Given the description of an element on the screen output the (x, y) to click on. 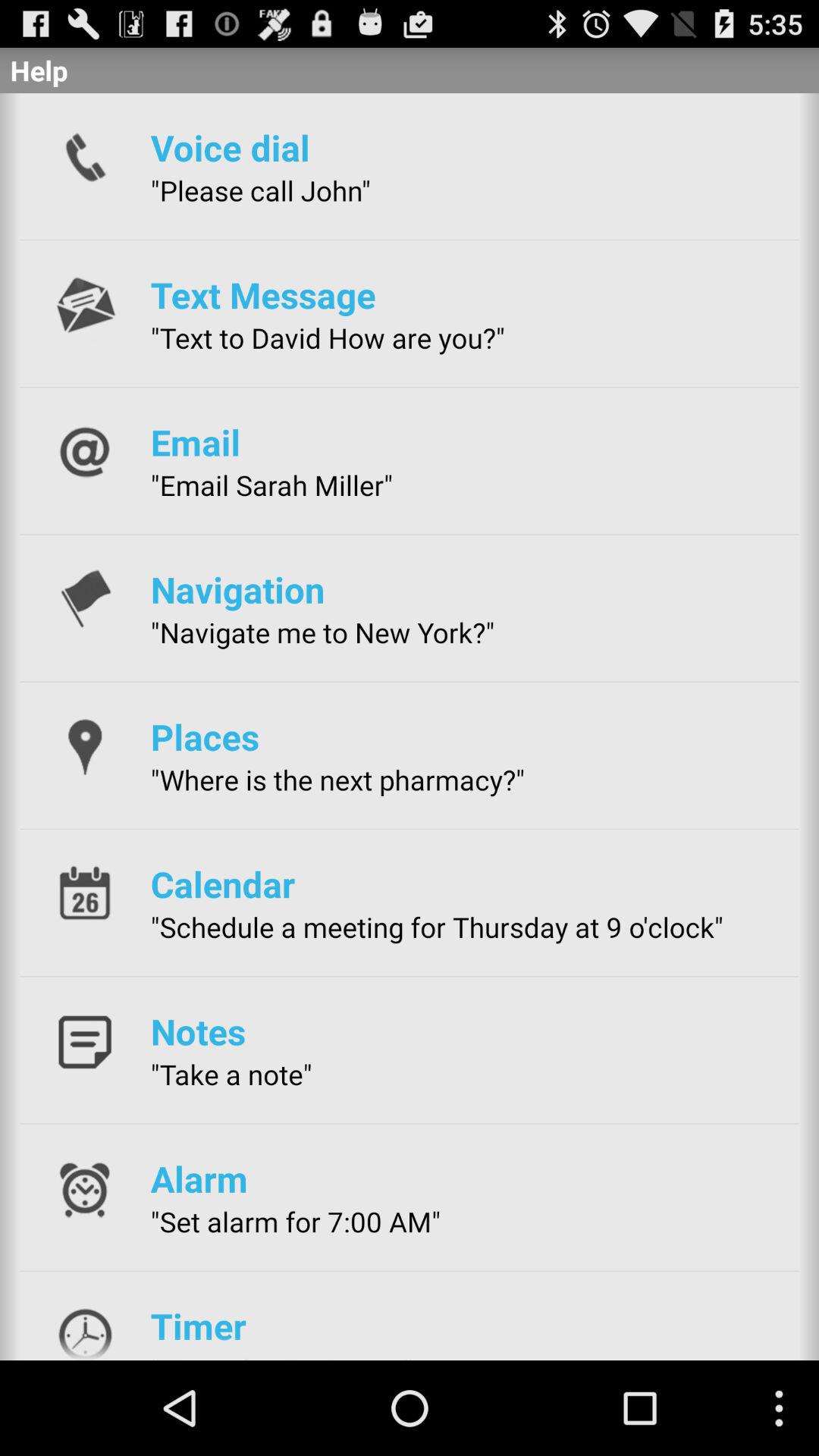
choose the "email sarah miller" (271, 484)
